Given the description of an element on the screen output the (x, y) to click on. 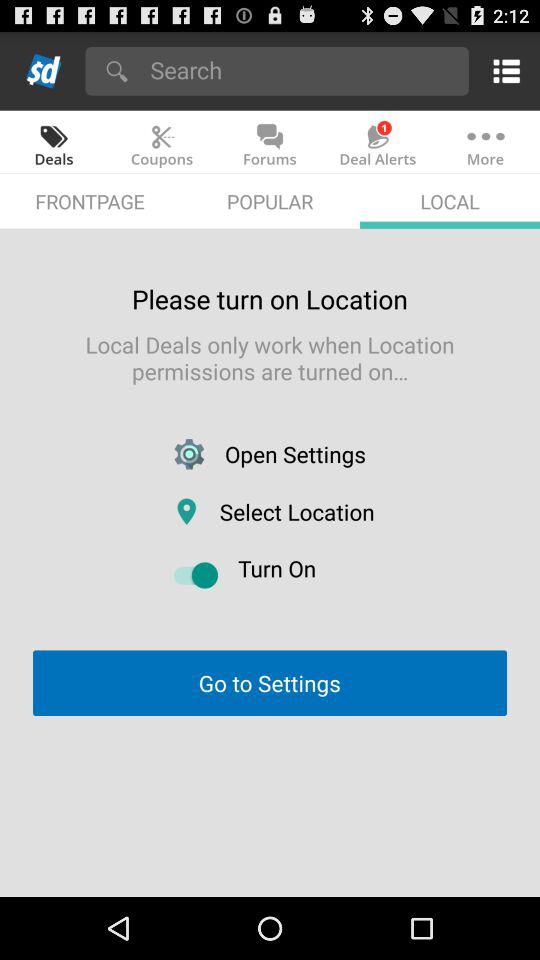
enter search criteria (302, 69)
